Given the description of an element on the screen output the (x, y) to click on. 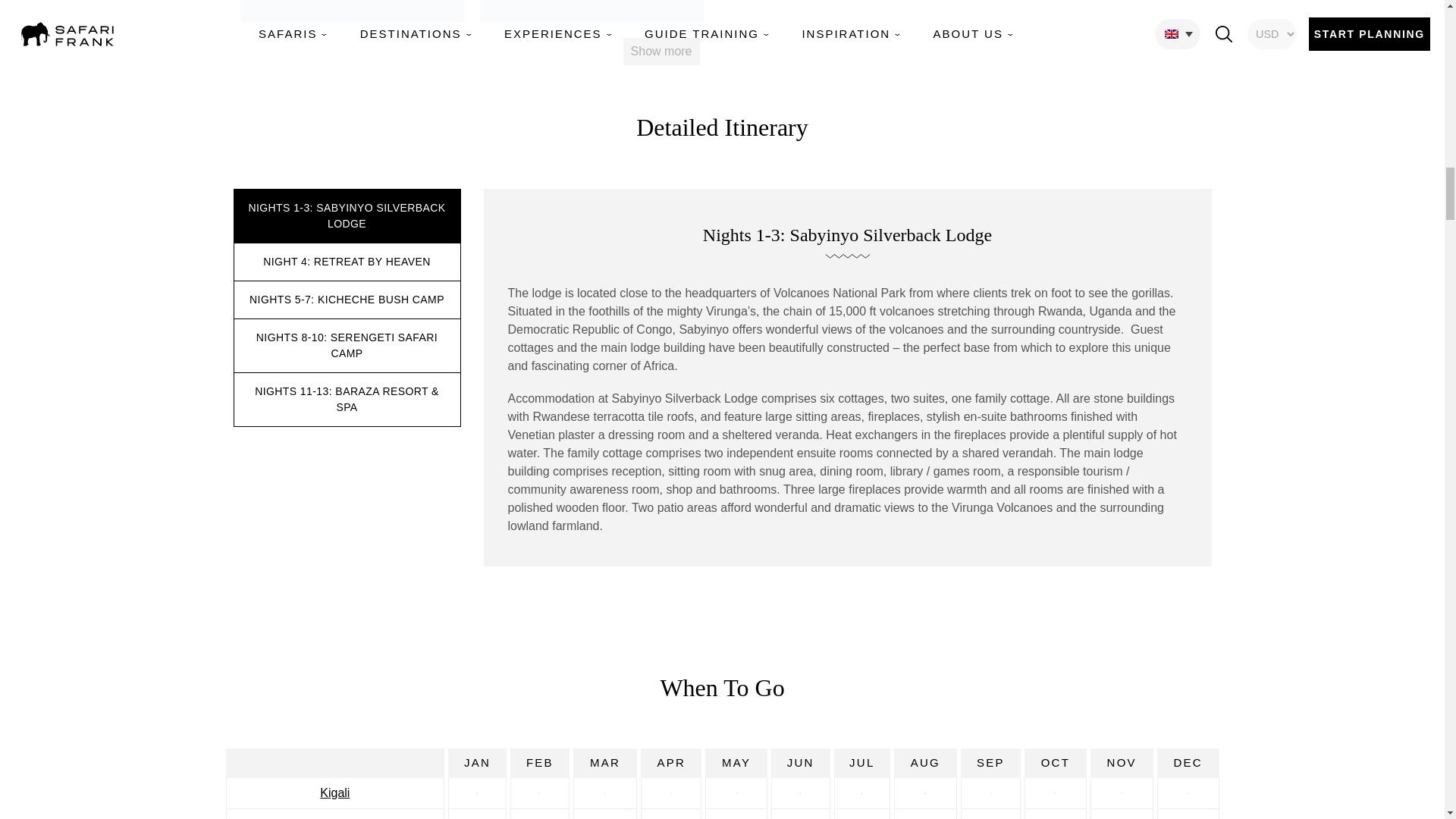
rwanda volcanoes sabyinyo silverback lodge gorilla (591, 11)
